Given the description of an element on the screen output the (x, y) to click on. 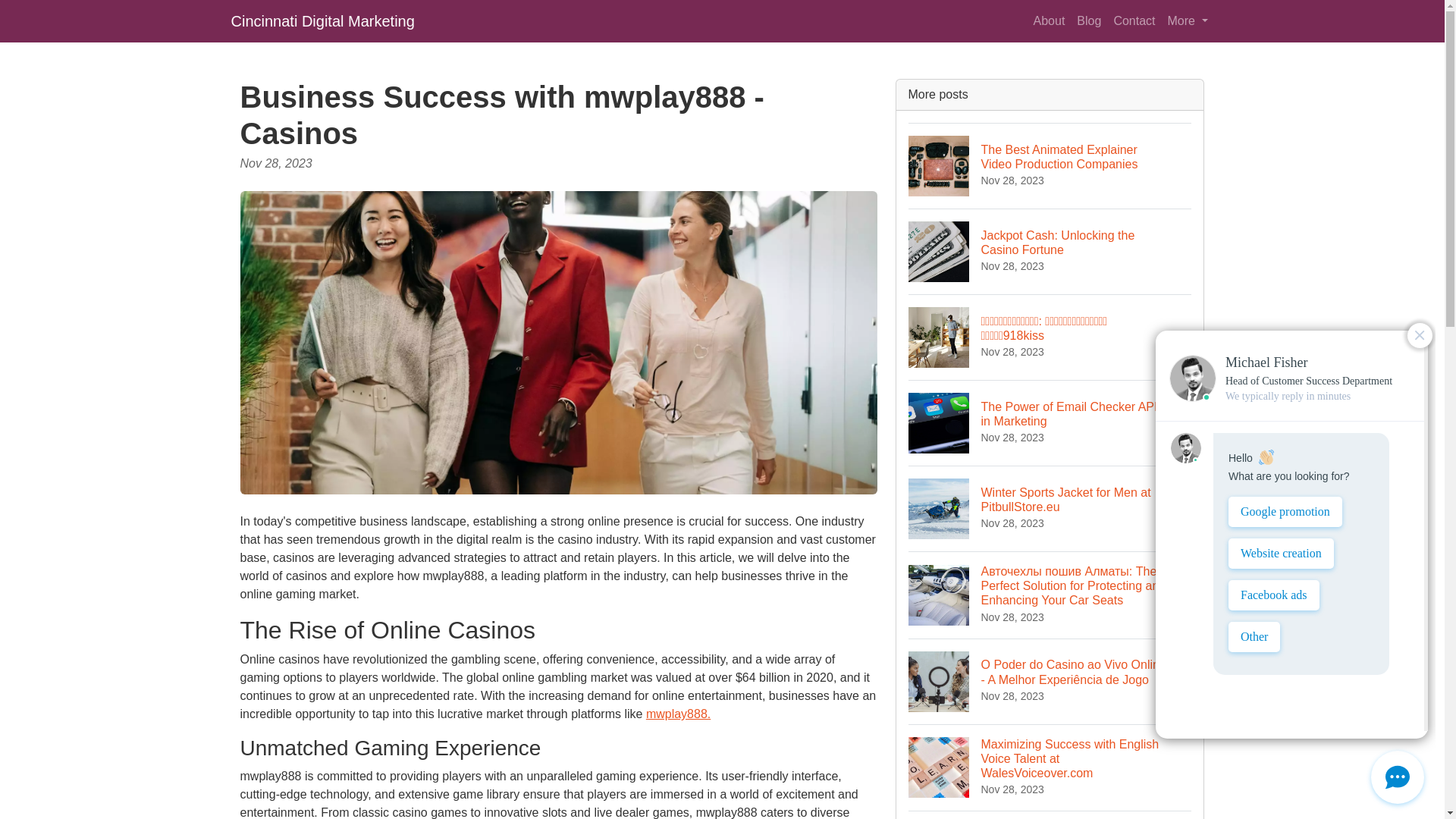
Cincinnati Digital Marketing (321, 20)
mwplay888. (678, 713)
More (1187, 20)
Blog (1050, 251)
Contact (1088, 20)
About (1050, 423)
